Given the description of an element on the screen output the (x, y) to click on. 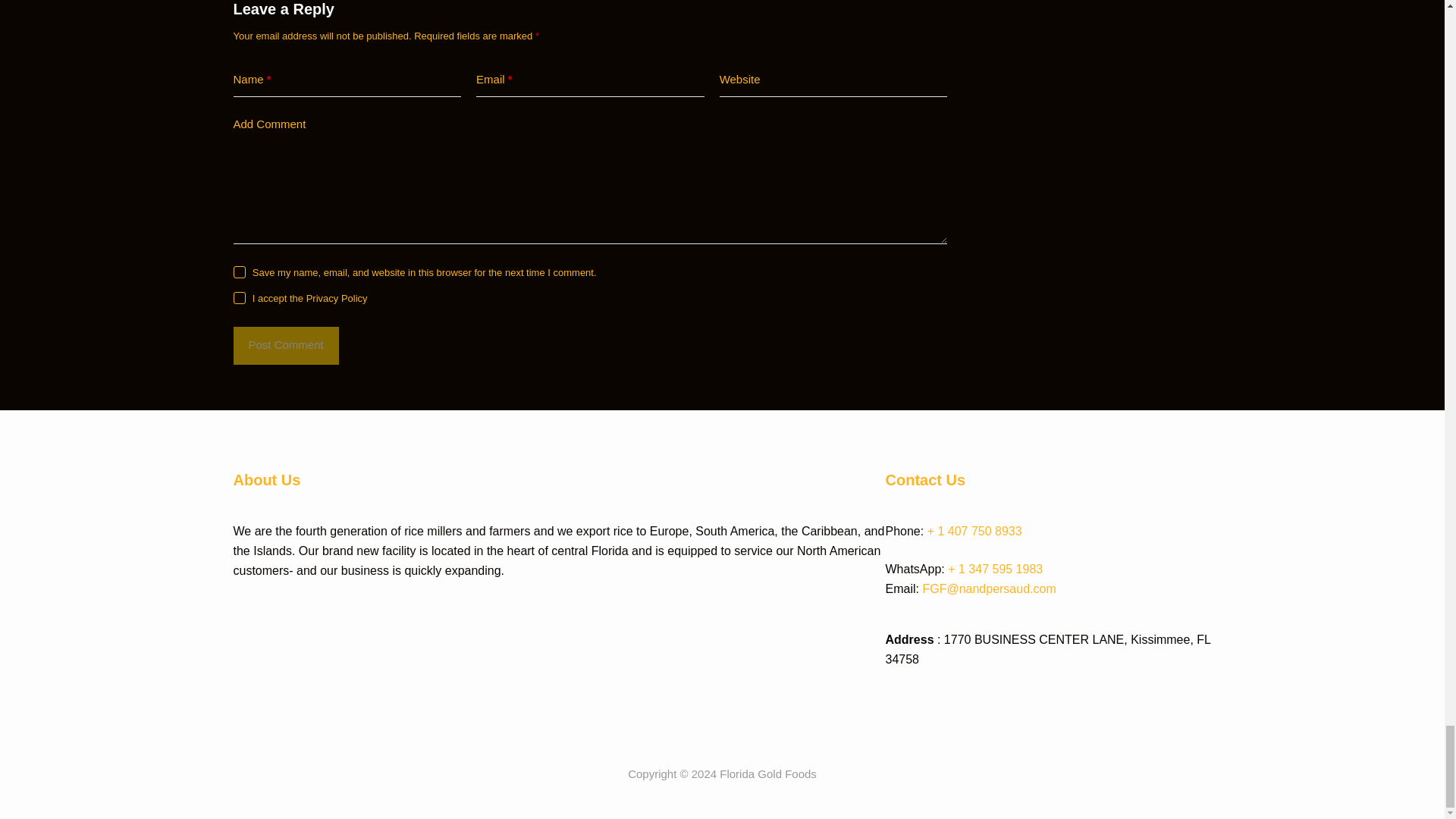
yes (239, 272)
on (239, 297)
